Given the description of an element on the screen output the (x, y) to click on. 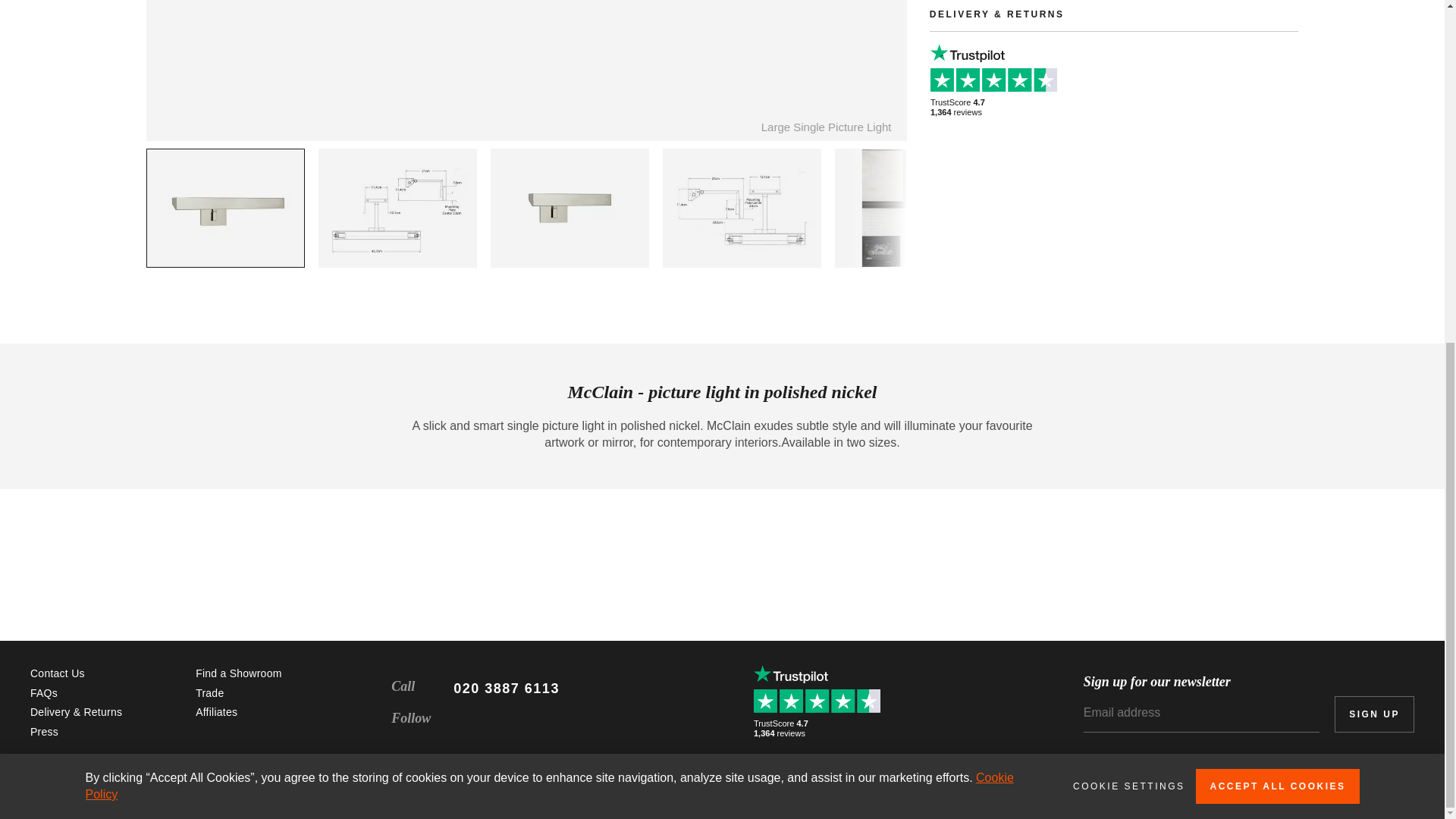
Customer reviews powered by Trustpilot (997, 69)
Customer reviews powered by Trustpilot (820, 702)
